Given the description of an element on the screen output the (x, y) to click on. 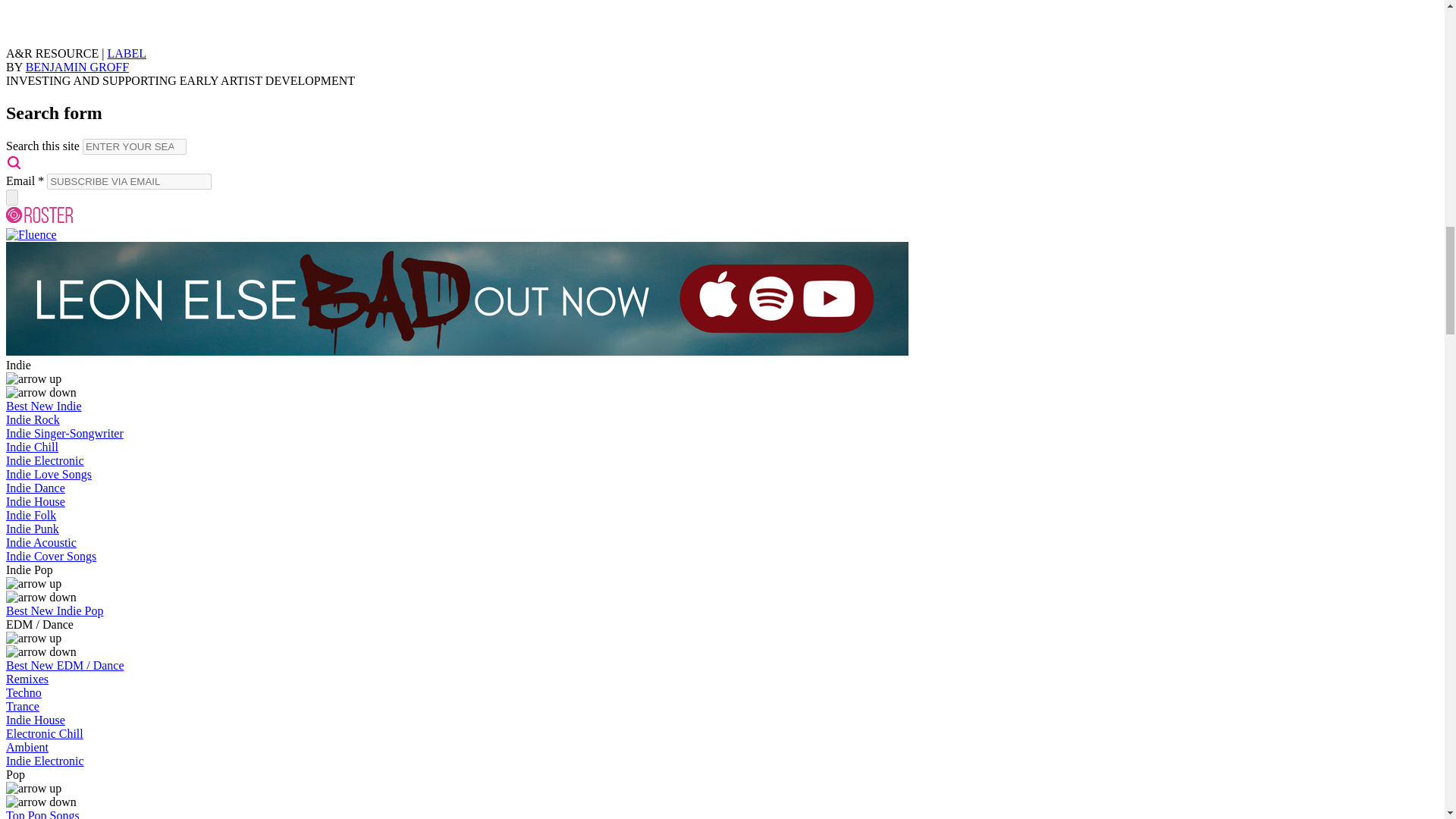
Search (13, 162)
Enter the terms you wish to search for. (134, 146)
